Given the description of an element on the screen output the (x, y) to click on. 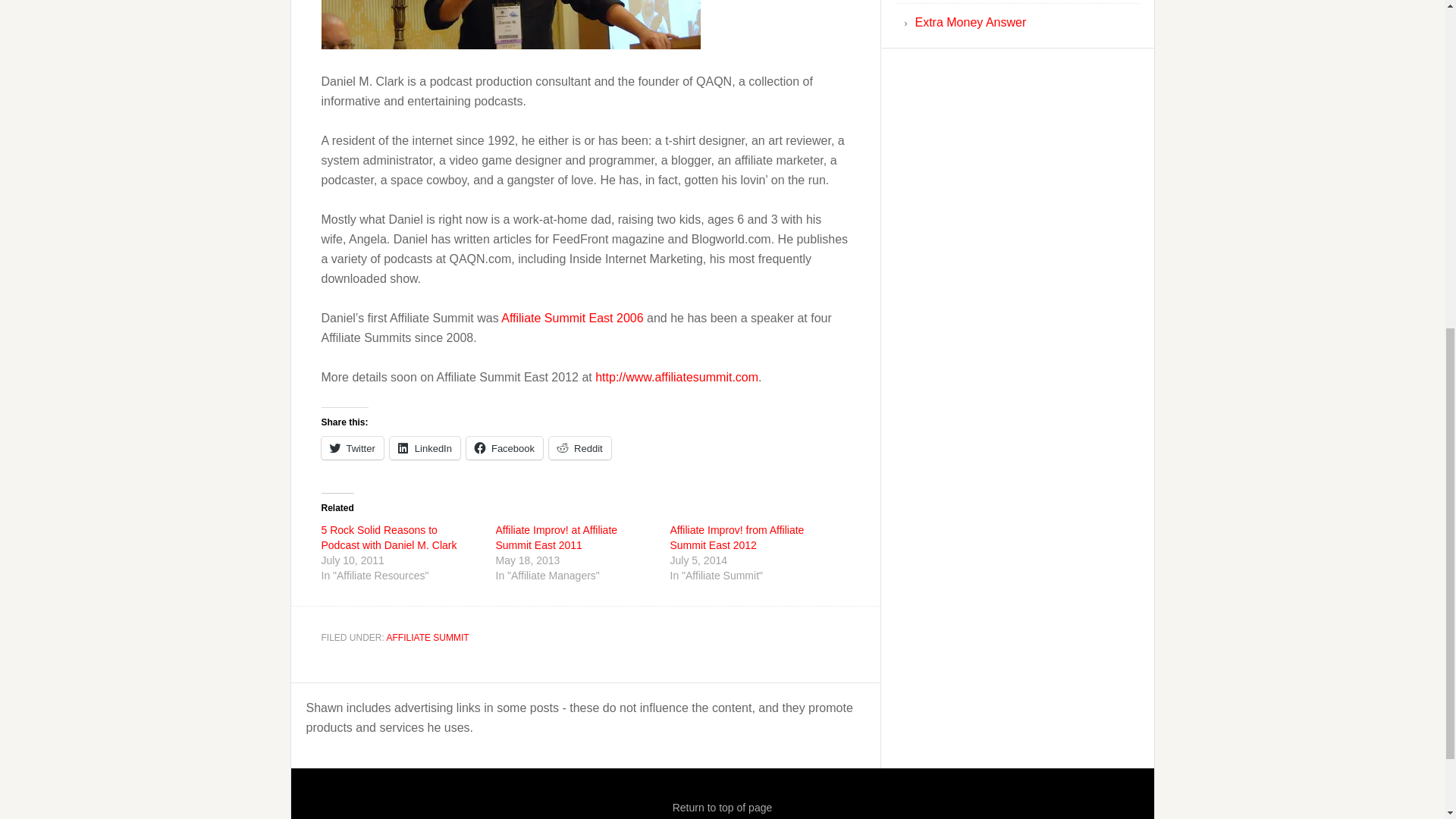
Twitter (352, 447)
Click to share on Facebook (504, 447)
Reddit (579, 447)
LinkedIn (425, 447)
Affiliate Improv! from Affiliate Summit East 2012 (737, 537)
Click to share on Reddit (579, 447)
Extra Money Answer (970, 21)
Affiliate Improv! from Affiliate Summit East 2012 (737, 537)
Click to share on LinkedIn (425, 447)
5 Rock Solid Reasons to Podcast with Daniel M. Clark (389, 537)
Facebook (504, 447)
Affiliate Improv! at Affiliate Summit East 2011 (556, 537)
Affiliate Improv! at Affiliate Summit East 2011 (556, 537)
Return to top of page (722, 807)
